Given the description of an element on the screen output the (x, y) to click on. 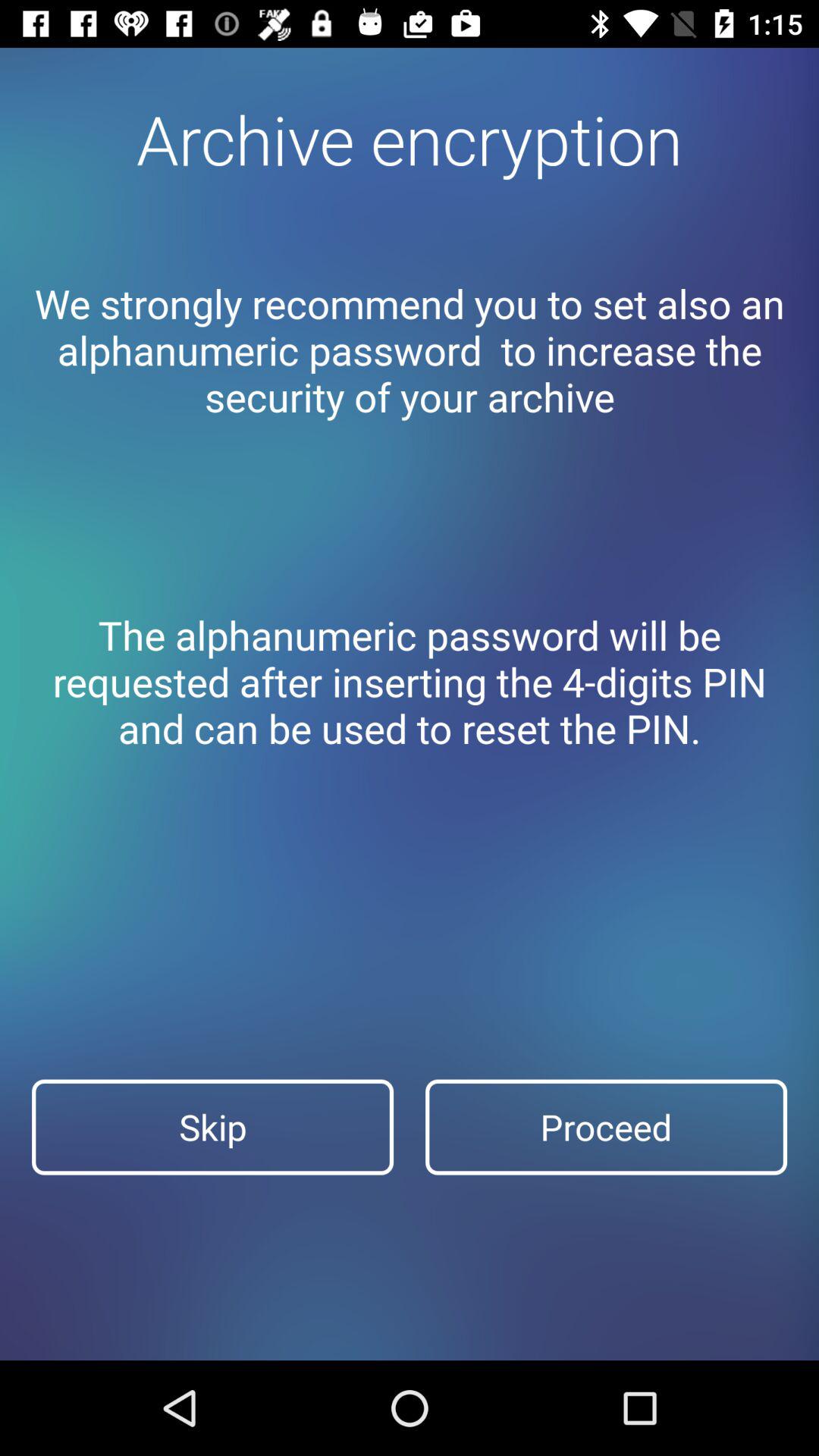
press proceed at the bottom right corner (606, 1127)
